Given the description of an element on the screen output the (x, y) to click on. 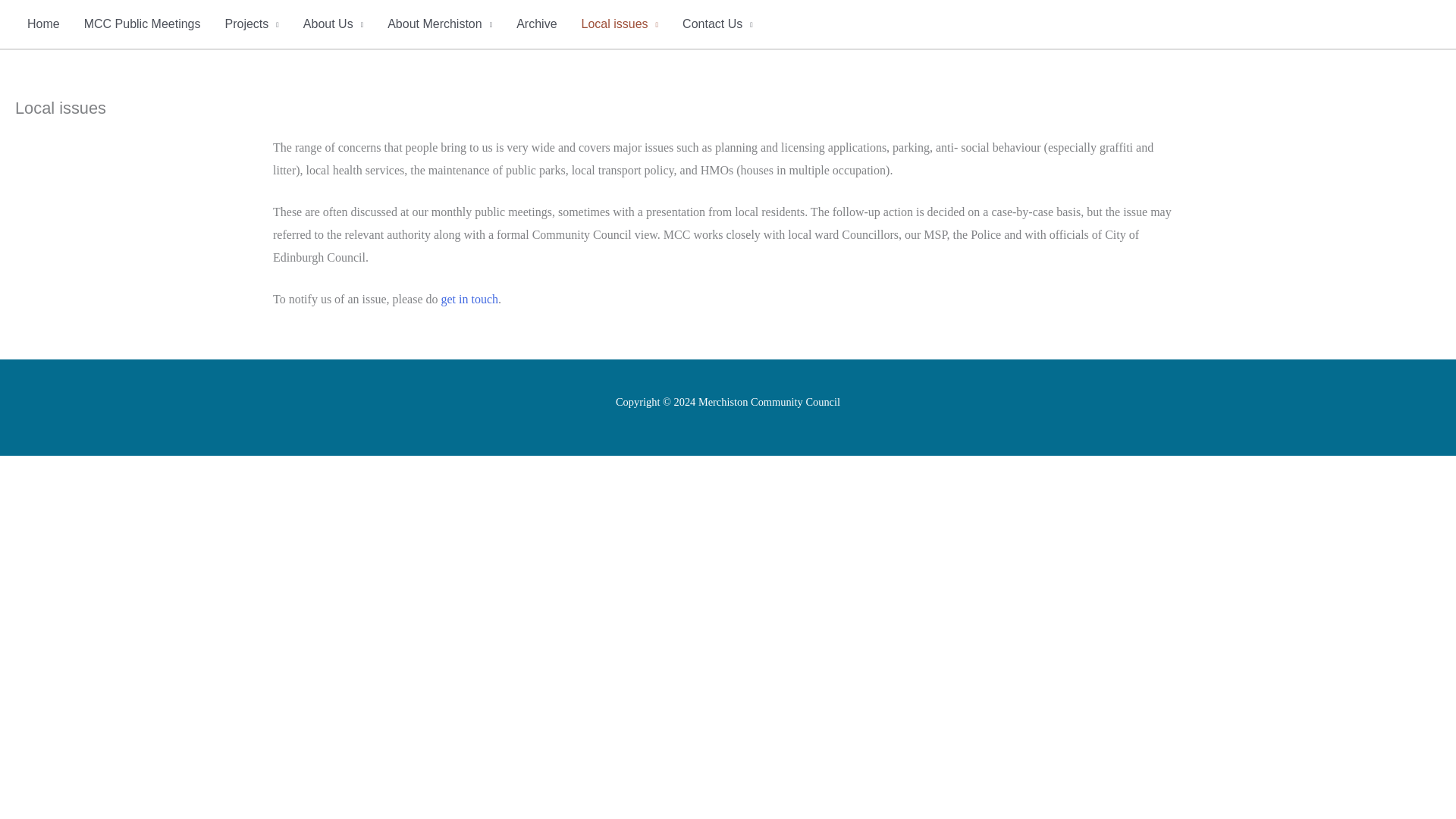
Contact Us (717, 24)
About Merchiston (439, 24)
Projects (251, 24)
Home (42, 24)
About Us (333, 24)
Contact Us (470, 298)
get in touch (470, 298)
MCC Public Meetings (141, 24)
Local issues (620, 24)
Archive (536, 24)
